Given the description of an element on the screen output the (x, y) to click on. 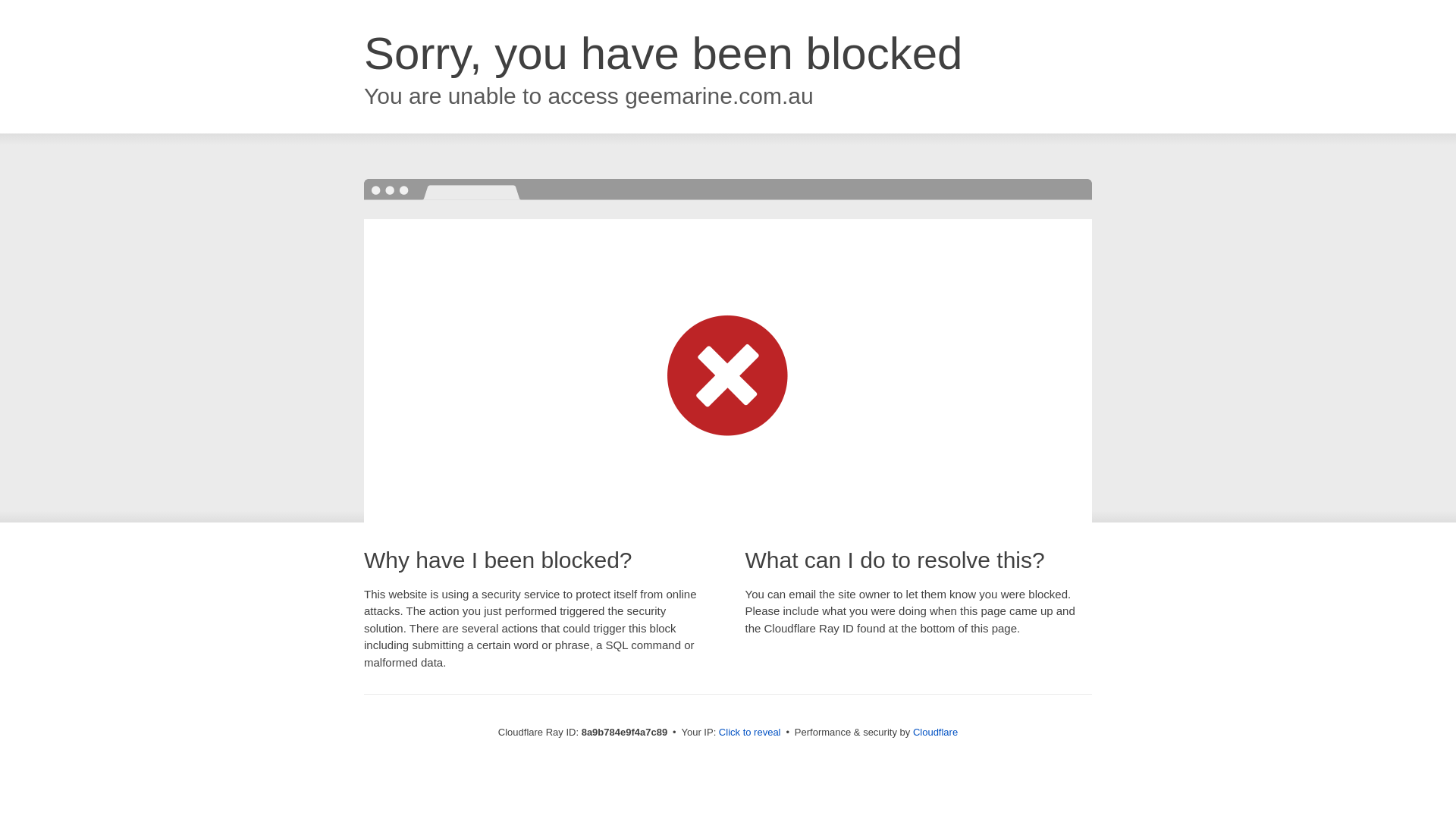
Click to reveal (749, 732)
Cloudflare (935, 731)
